Given the description of an element on the screen output the (x, y) to click on. 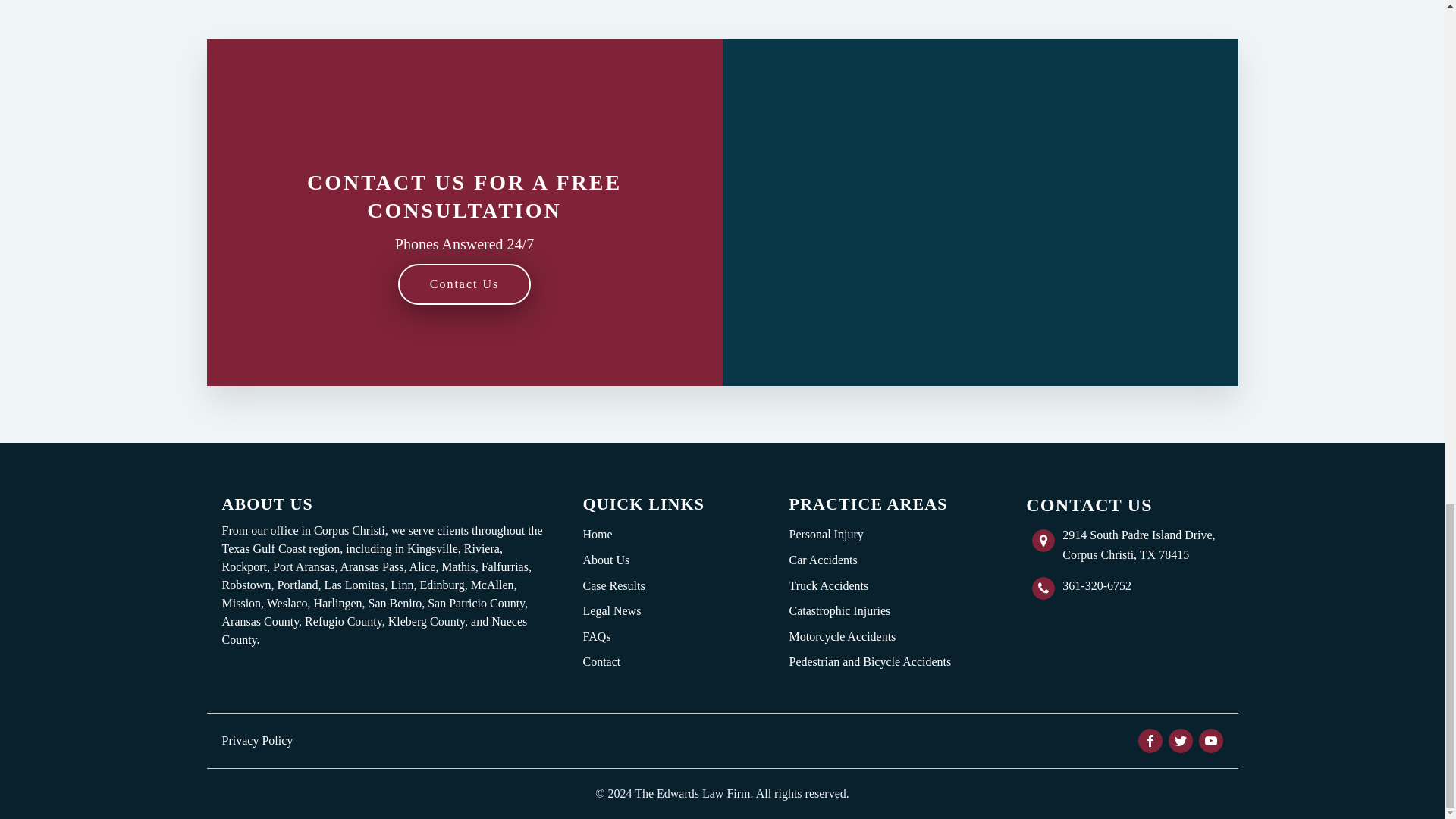
Truck Accidents (869, 585)
Contact (613, 661)
Motorcycle Accidents (869, 637)
Legal News (613, 611)
Contact Us (464, 283)
About Us (613, 560)
Privacy Policy (256, 739)
FAQs (613, 637)
Car Accidents (869, 560)
Pedestrian and Bicycle Accidents (869, 661)
Personal Injury (869, 534)
361-320-6752 (1096, 586)
Home (613, 534)
Catastrophic Injuries (869, 611)
Case Results (613, 585)
